Given the description of an element on the screen output the (x, y) to click on. 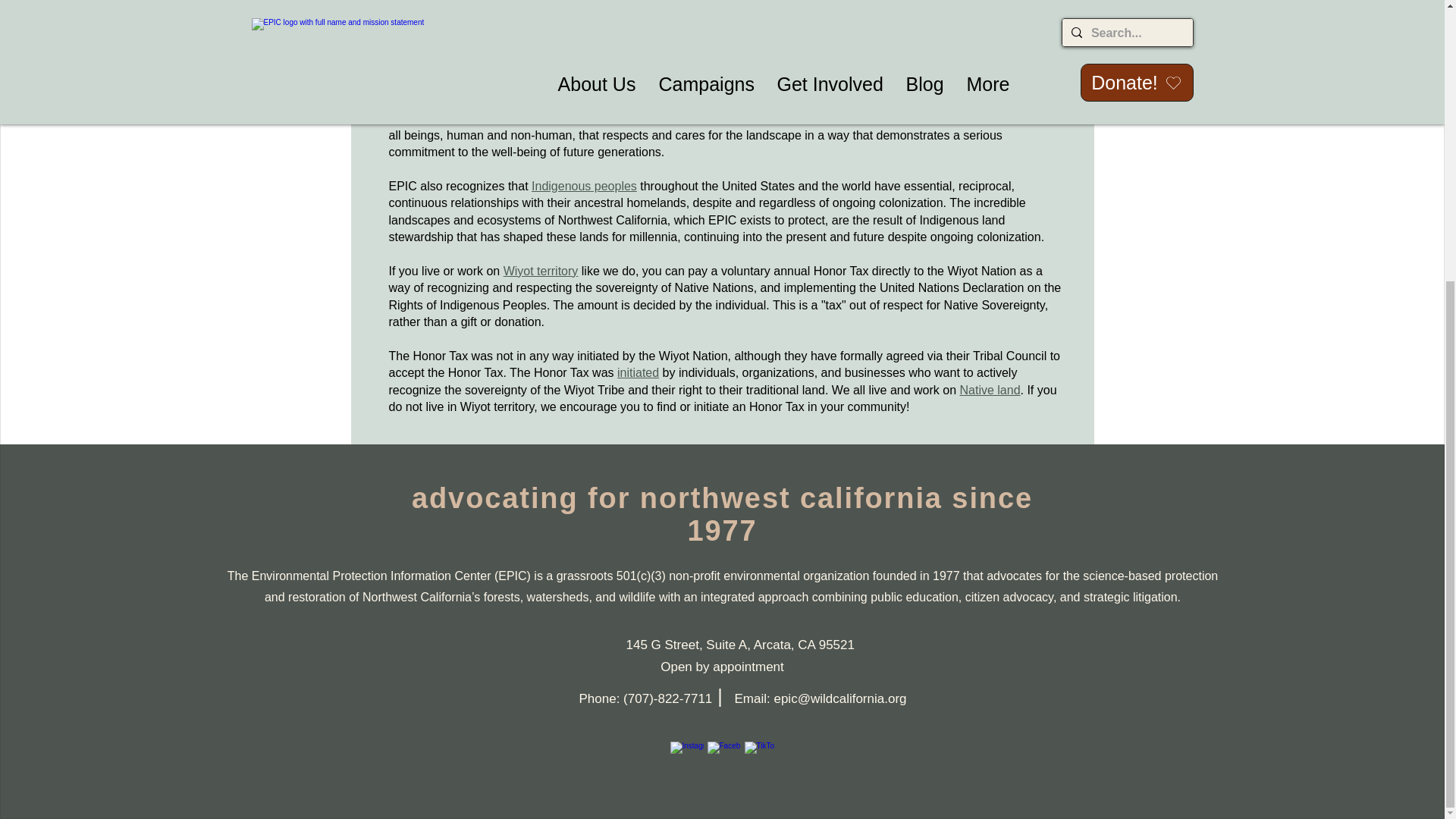
Indigenous peoples (584, 185)
Trinity Alps (593, 50)
four national forests (681, 50)
salmon (447, 50)
old-growth (779, 15)
the Smith River (767, 32)
coast redwood trees (442, 32)
